Given the description of an element on the screen output the (x, y) to click on. 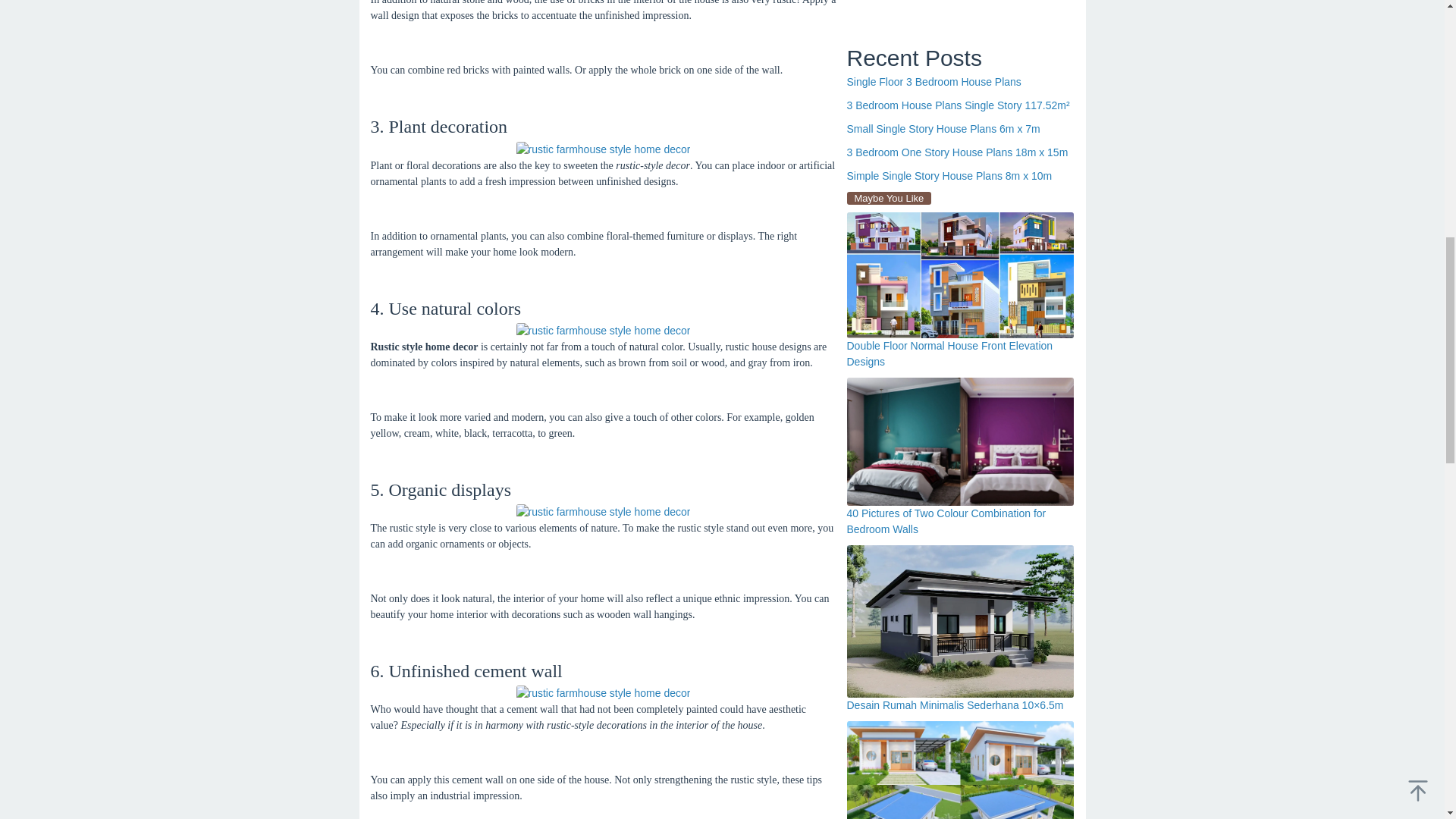
rustic farmhouse style home decor (602, 512)
rustic farmhouse style home decor (602, 149)
rustic farmhouse style home decor (602, 330)
rustic farmhouse style home decor (602, 693)
